Given the description of an element on the screen output the (x, y) to click on. 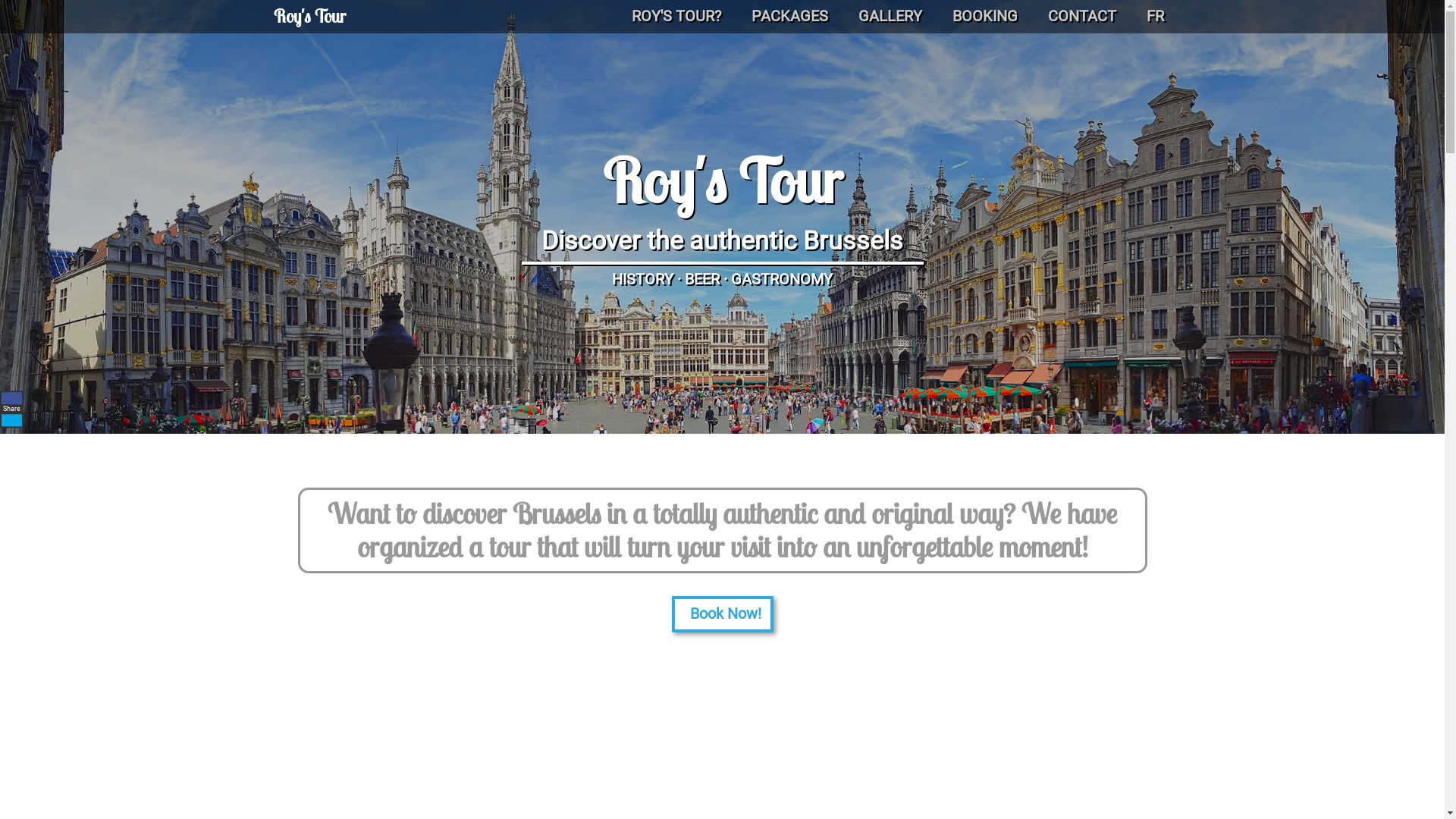
CONTACT Element type: text (1081, 16)
GALLERY Element type: text (889, 16)
PACKAGES Element type: text (788, 16)
Roy's Tour Element type: text (308, 16)
Book Now! Element type: text (722, 614)
BOOKING Element type: text (984, 16)
ROY'S TOUR? Element type: text (675, 16)
FR Element type: text (1154, 16)
